Given the description of an element on the screen output the (x, y) to click on. 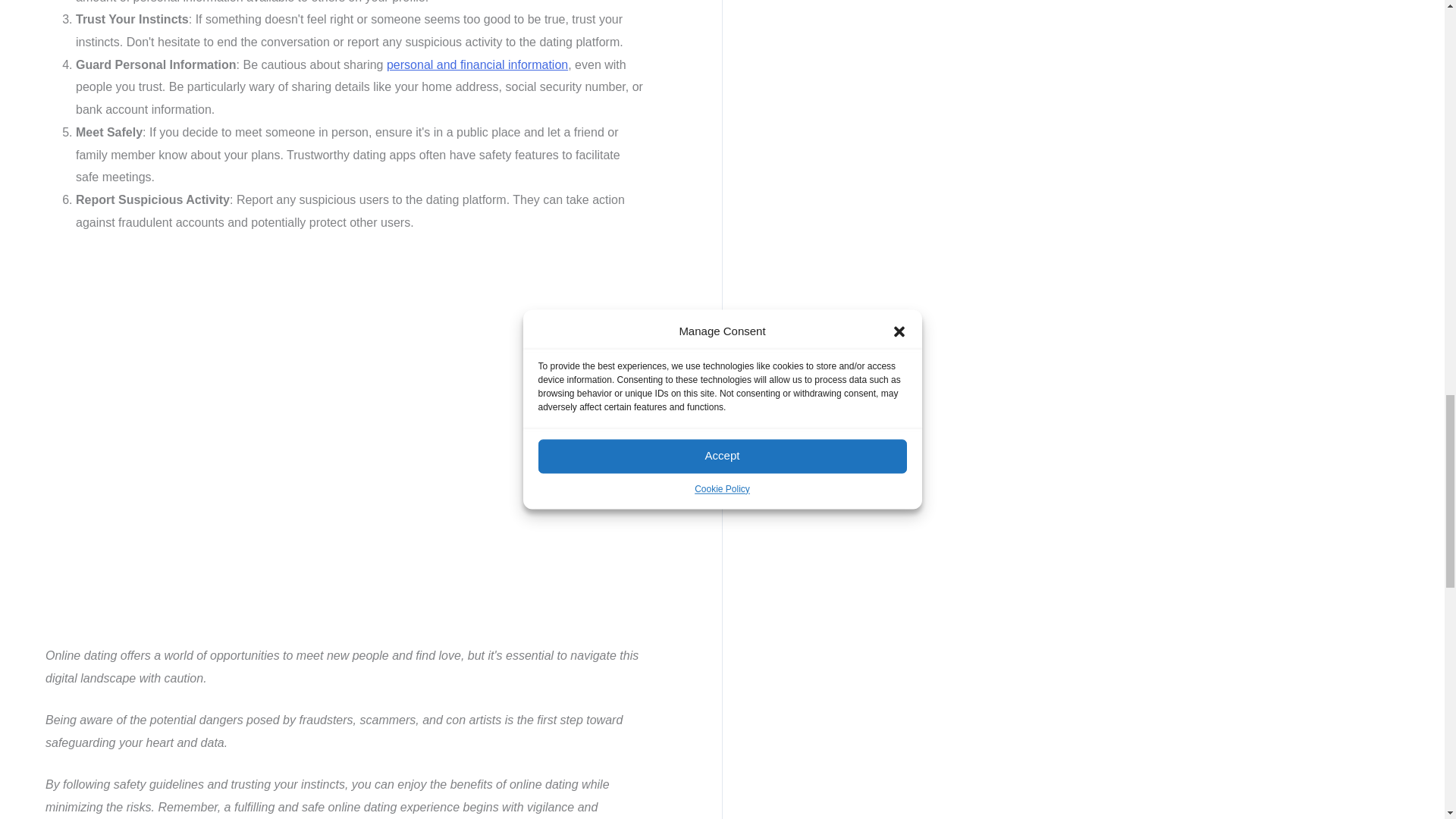
personal and financial information (477, 64)
